Given the description of an element on the screen output the (x, y) to click on. 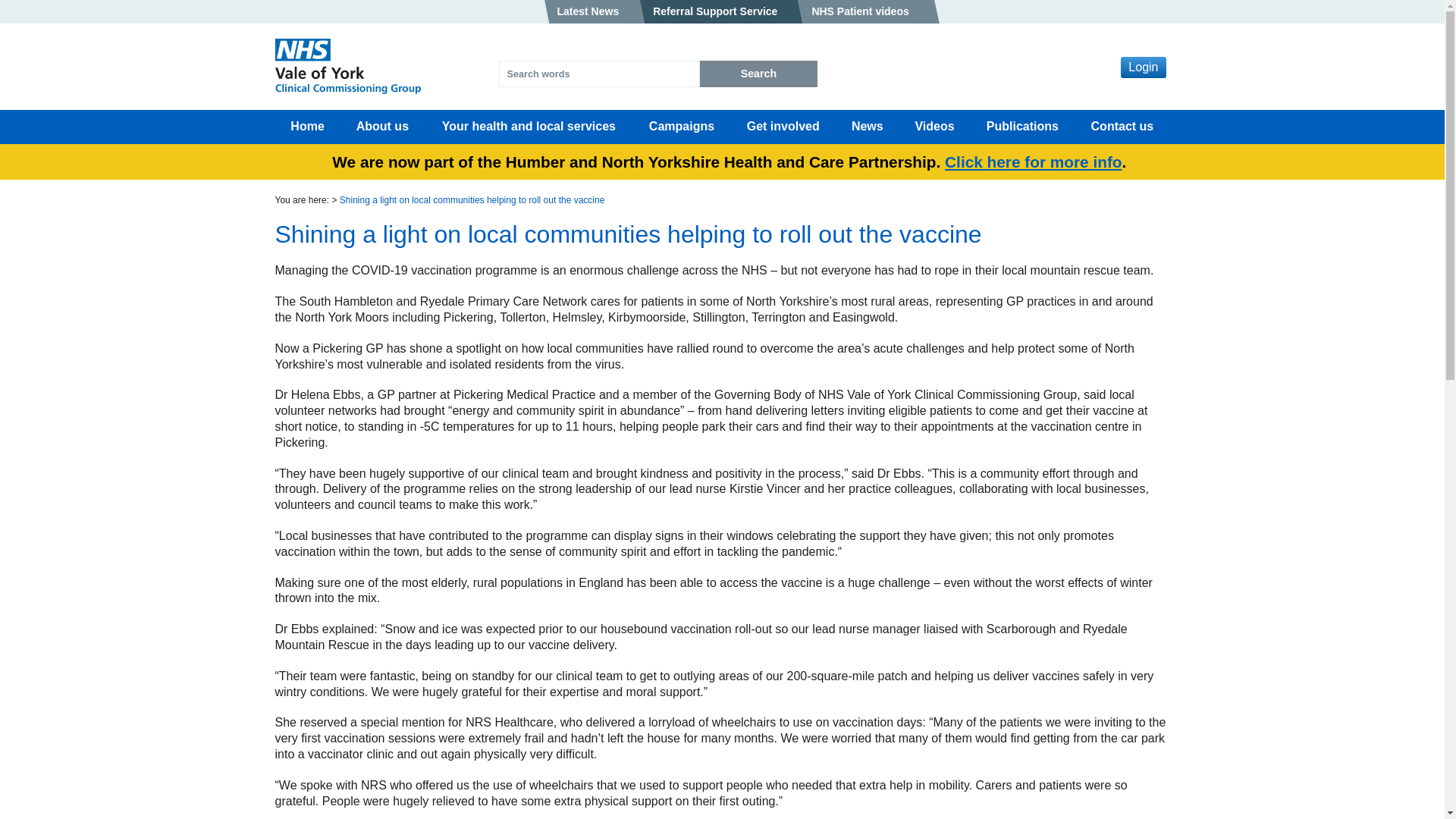
Contact us (1121, 126)
Campaigns (681, 126)
Referral Support Service (722, 11)
About us (382, 126)
Your health and local services (528, 126)
Search (758, 73)
Home (307, 126)
NHS Patient videos (867, 11)
Click here for more info (1032, 161)
Get involved (782, 126)
Login (1143, 66)
Videos (935, 126)
Publications (1023, 126)
News (866, 126)
Latest News (595, 11)
